Given the description of an element on the screen output the (x, y) to click on. 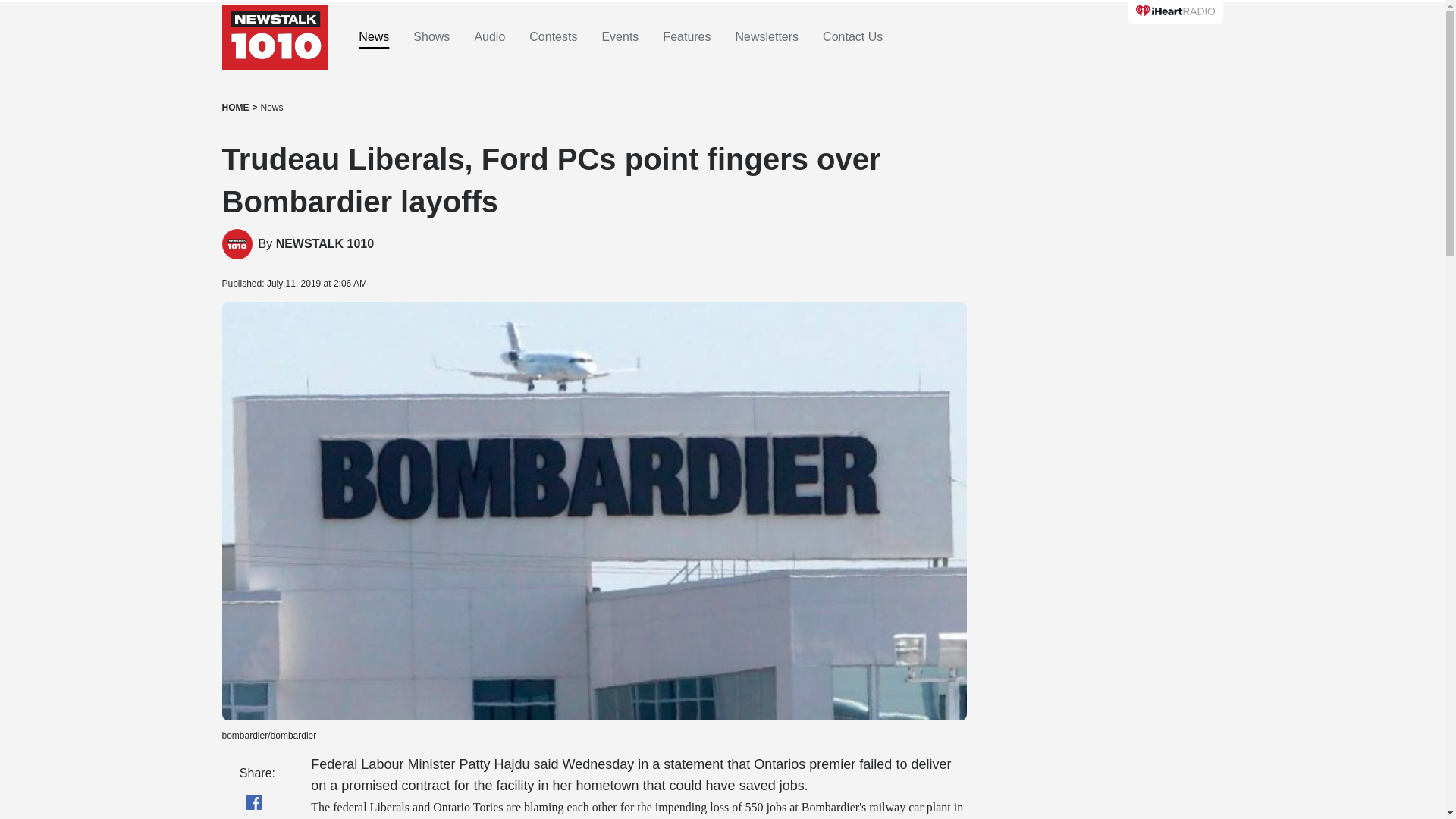
NEWSTALK 1010 (325, 243)
Features (686, 37)
Newsletters (767, 37)
Contests (552, 37)
HOME (234, 107)
NEWSTALK 1010 (236, 244)
NEWSTALK 1010 (325, 243)
News (271, 107)
Contact Us (852, 37)
